Given the description of an element on the screen output the (x, y) to click on. 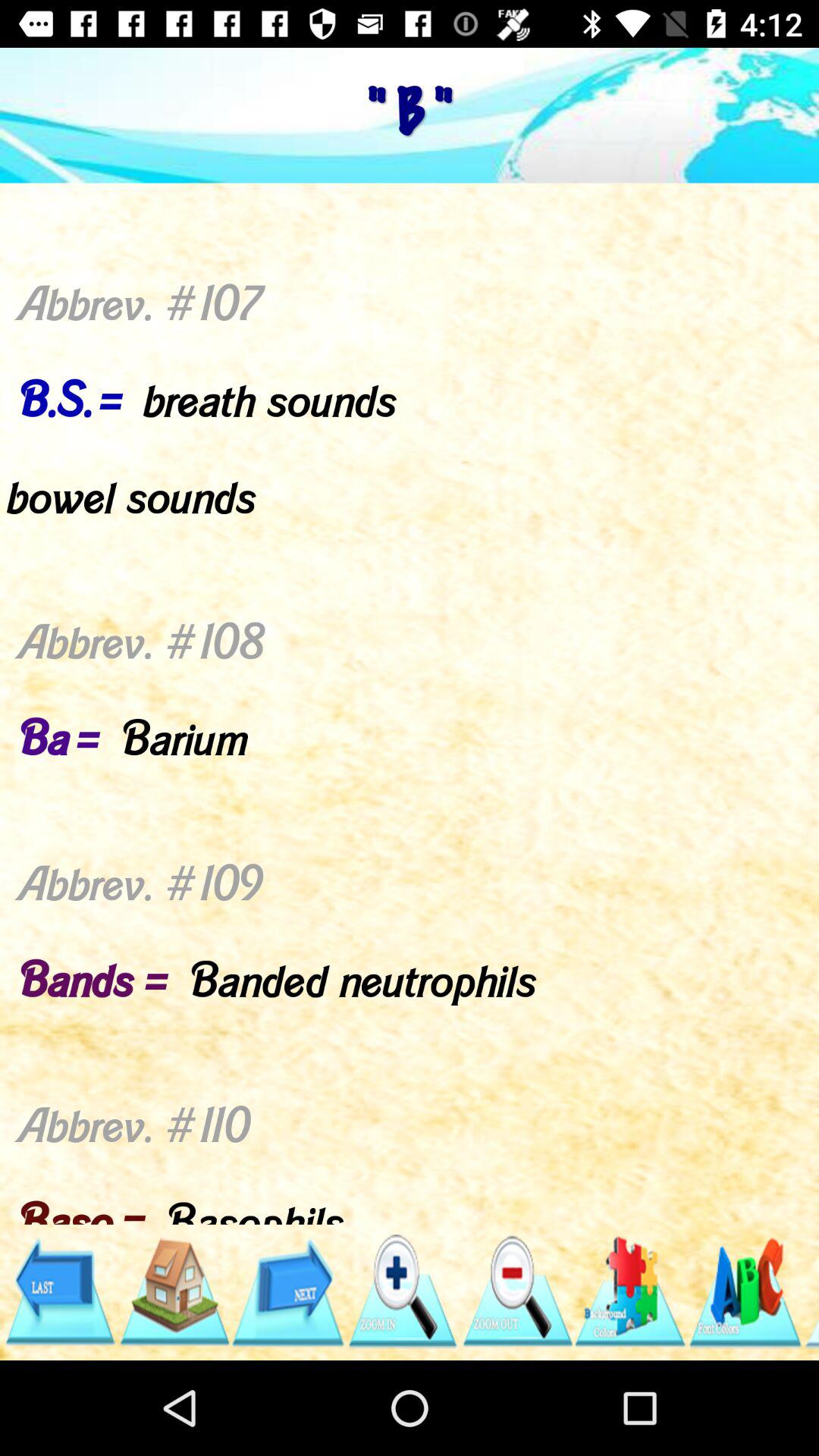
maximize size (402, 1291)
